Given the description of an element on the screen output the (x, y) to click on. 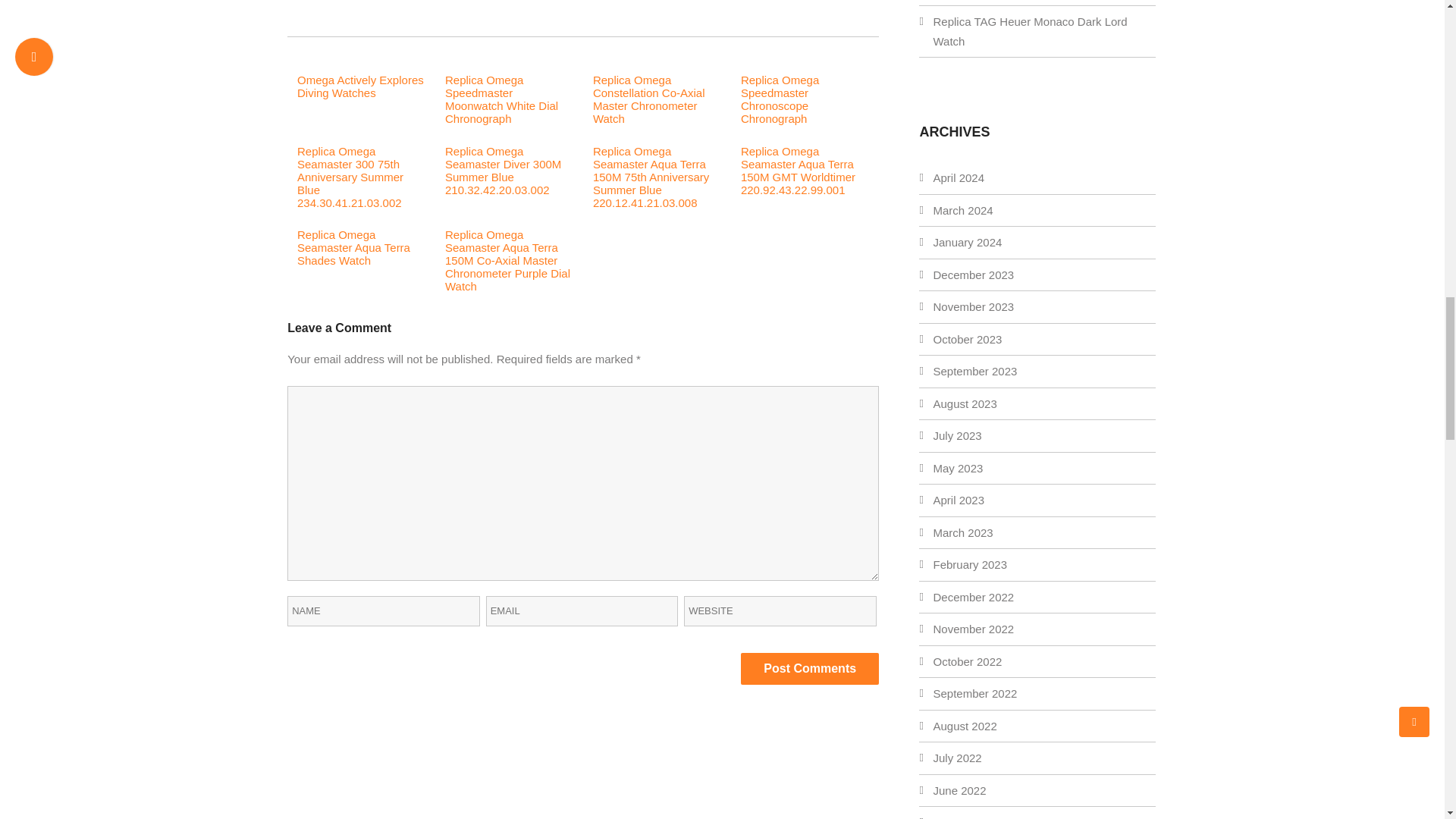
Replica Omega Speedmaster Moonwatch White Dial Chronograph (501, 99)
Replica Omega Speedmaster Moonwatch White Dial Chronograph (501, 99)
Replica Omega Speedmaster Chronoscope Chronograph (779, 99)
Omega Actively Explores Diving Watches (360, 86)
Previous Post (354, 2)
Omega Actively Explores Diving Watches (360, 86)
Next Post  (820, 2)
Replica Omega Speedmaster Chronoscope Chronograph (779, 99)
Post Comments (810, 668)
